Given the description of an element on the screen output the (x, y) to click on. 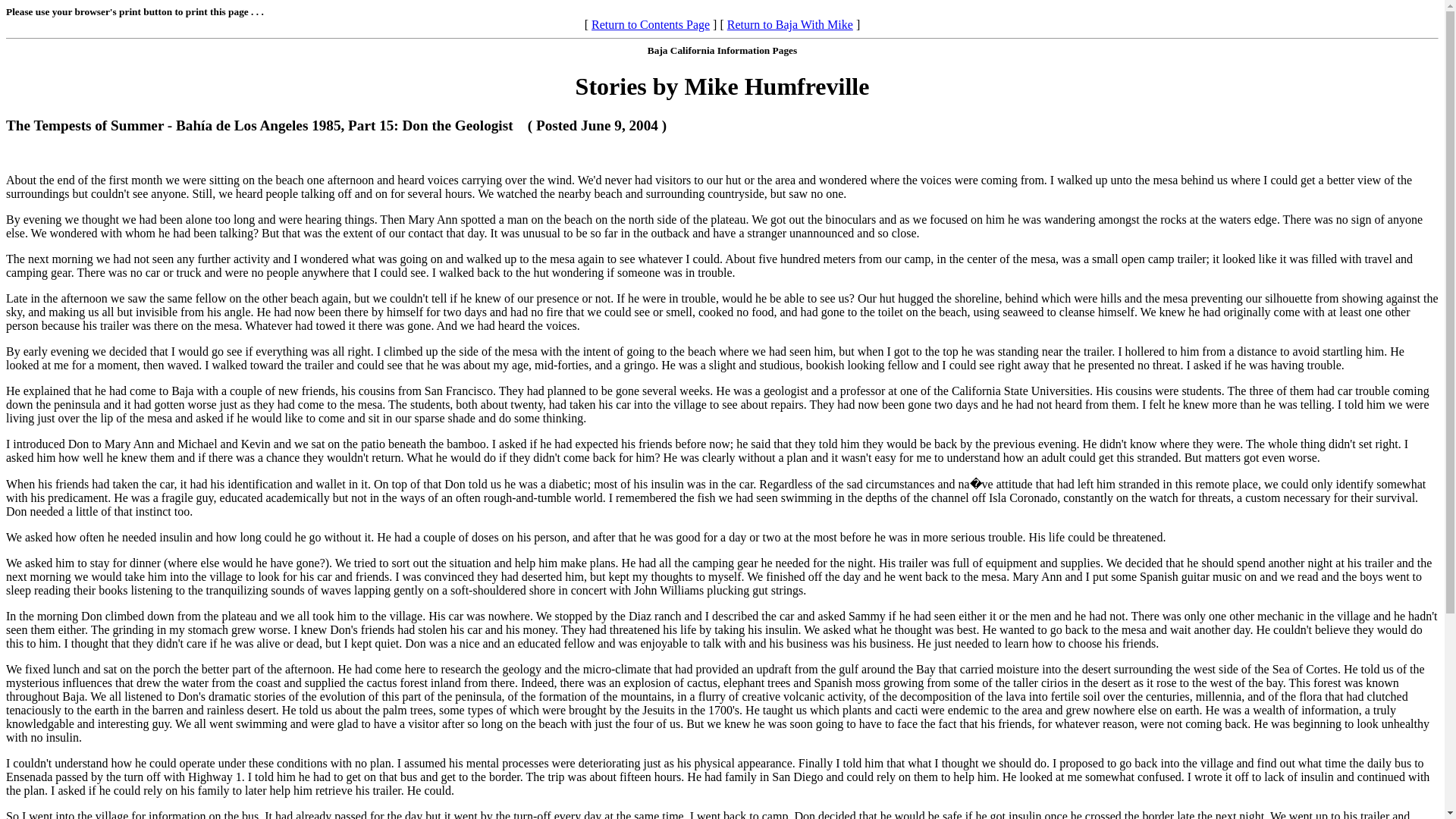
Return to Contents Page (650, 24)
Return to Baja With Mike (789, 24)
